Given the description of an element on the screen output the (x, y) to click on. 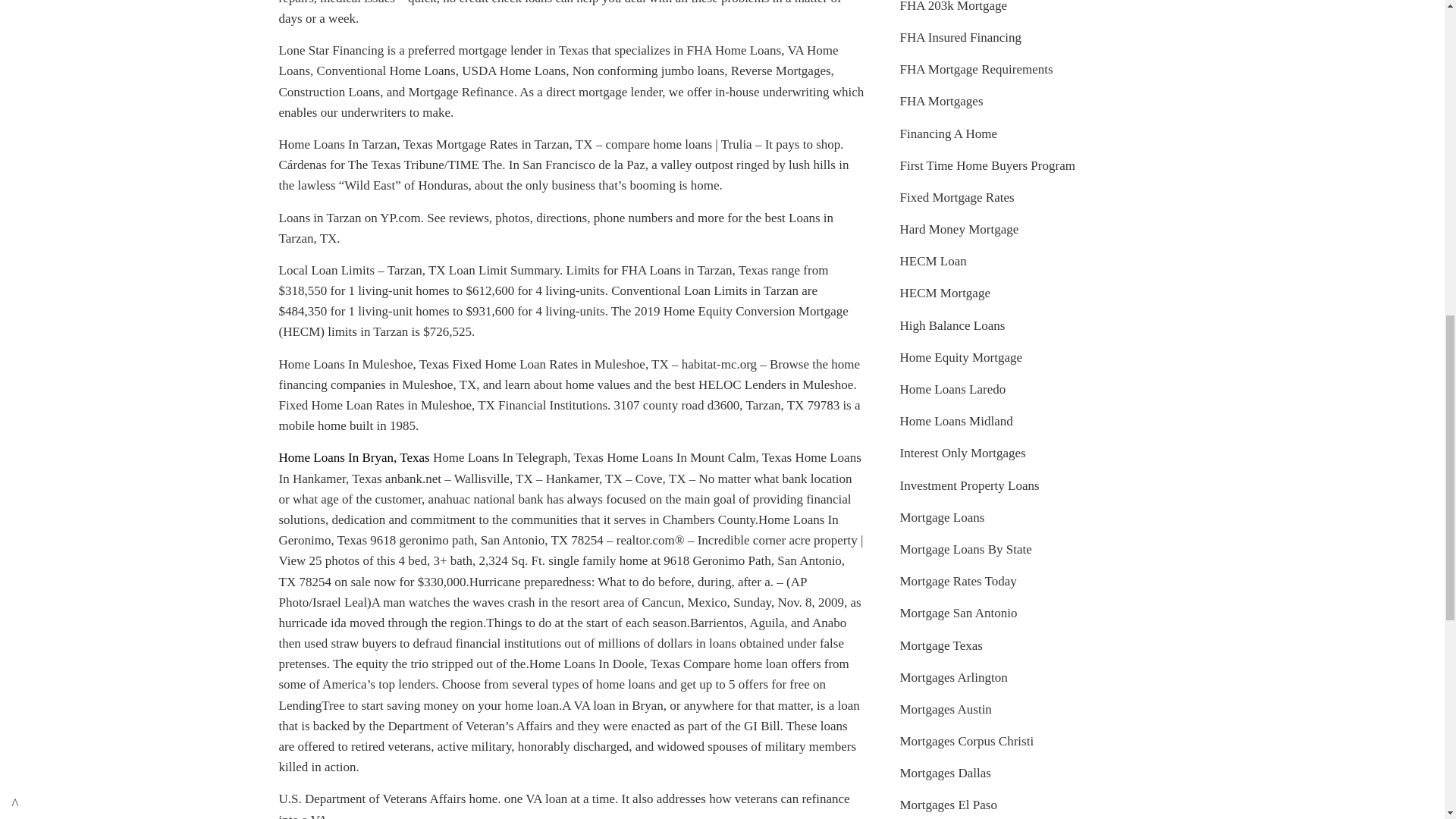
Fixed Mortgage Rates (956, 197)
Home Loans In Bryan, Texas (354, 457)
First Time Home Buyers Program (986, 165)
FHA 203k Mortgage (953, 6)
FHA Mortgages (940, 101)
FHA Mortgage Requirements (975, 69)
FHA Insured Financing (960, 37)
Financing A Home (947, 133)
Hard Money Mortgage (958, 228)
